Given the description of an element on the screen output the (x, y) to click on. 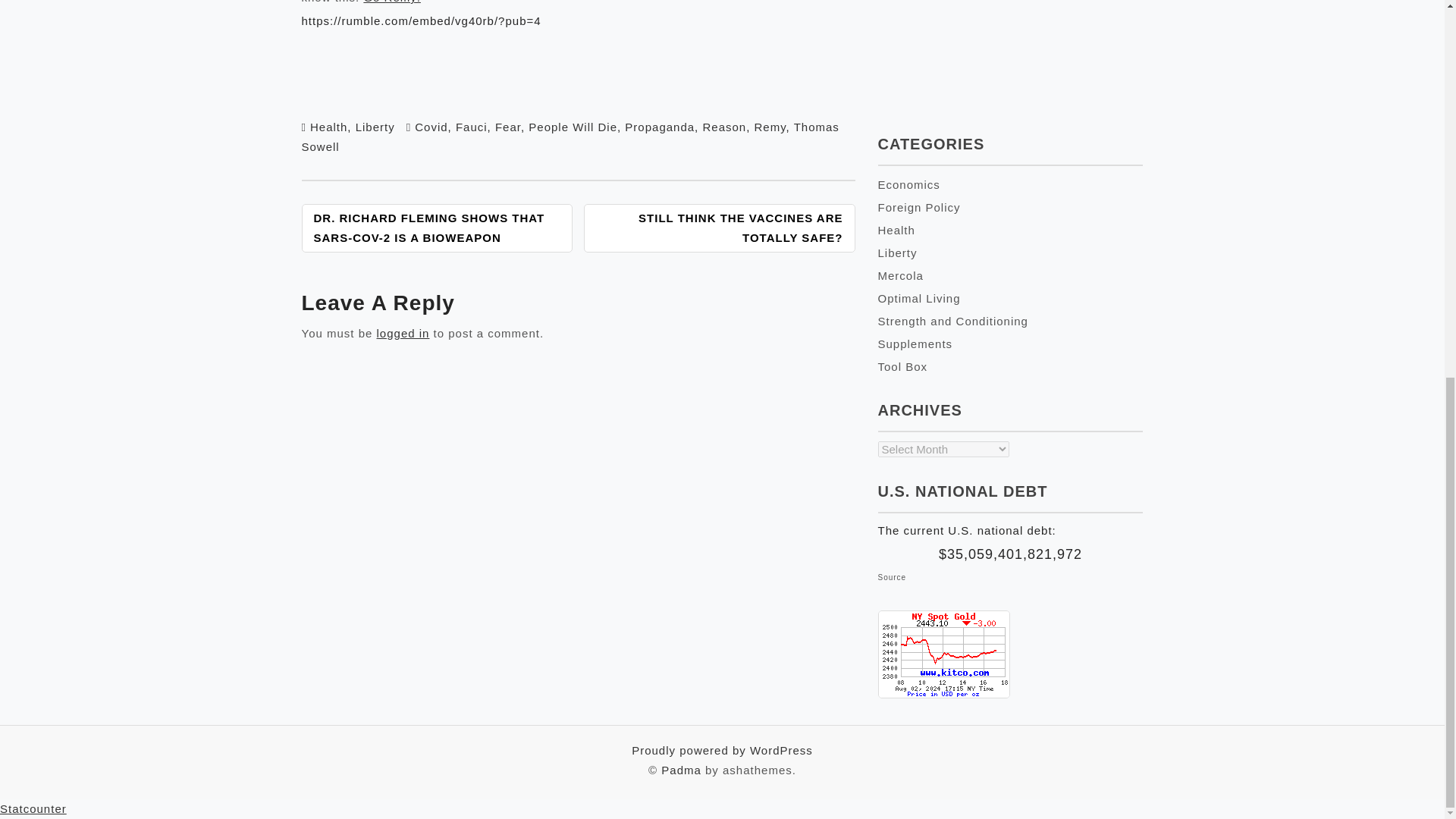
Covid (430, 126)
Fear (508, 126)
Reason (723, 126)
People Will Die (572, 126)
Go Remy! (391, 2)
Fauci (471, 126)
Remy (770, 126)
Health (328, 126)
Thomas Sowell (570, 136)
Liberty (374, 126)
